Given the description of an element on the screen output the (x, y) to click on. 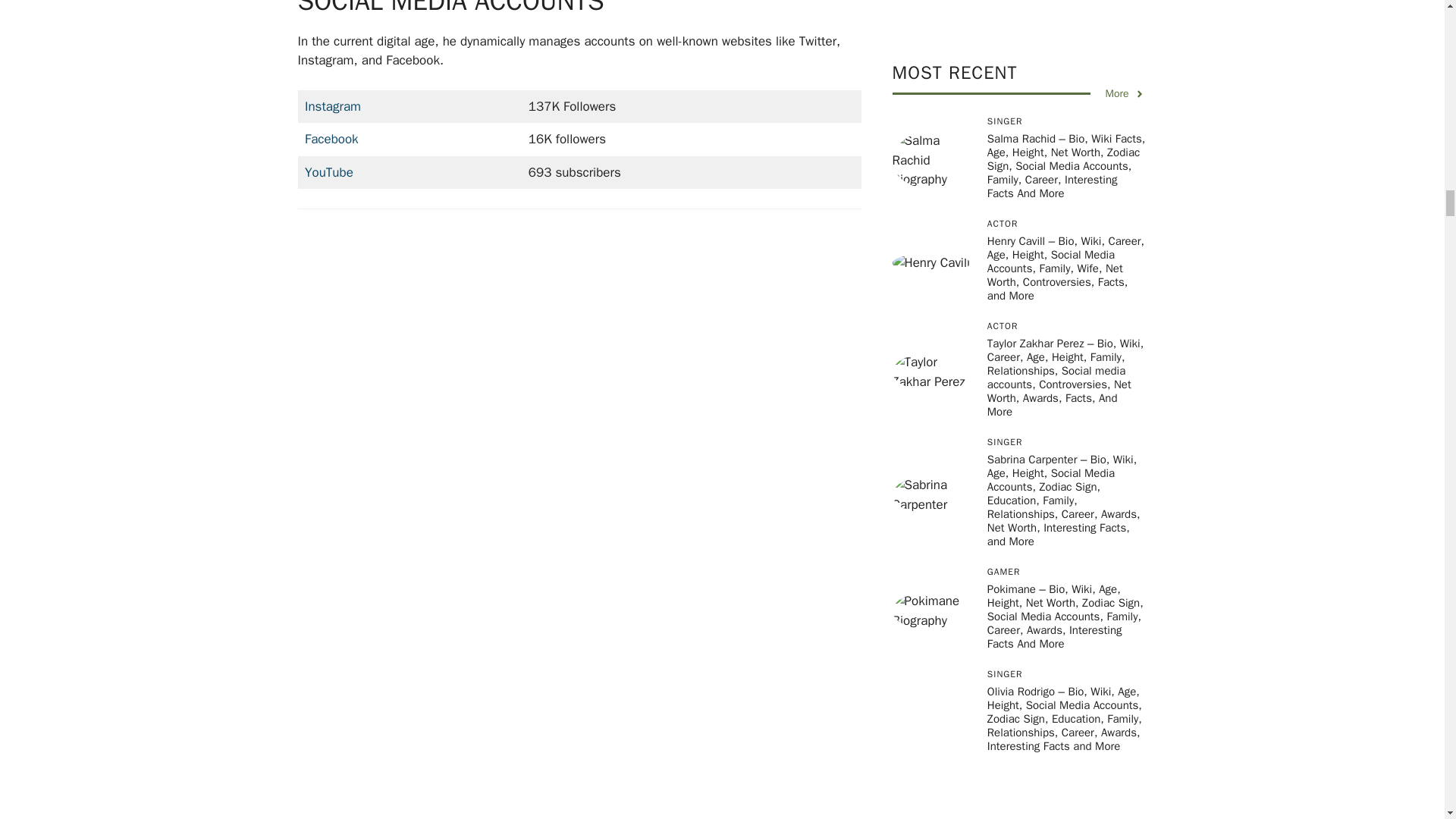
YouTube (328, 172)
Instagram (332, 106)
Facebook (331, 139)
